Given the description of an element on the screen output the (x, y) to click on. 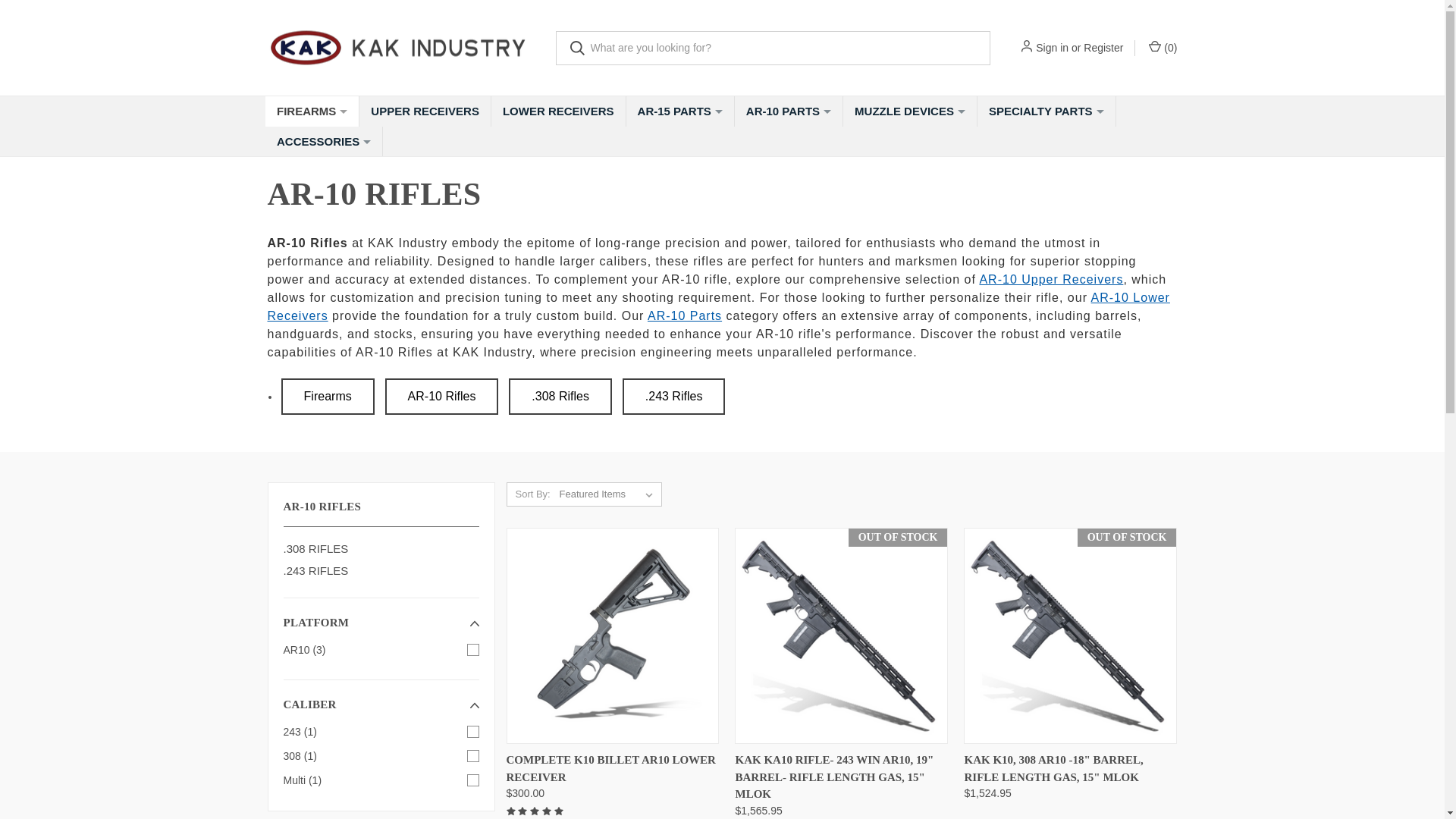
KAK INDUSTRY (399, 48)
Register (1102, 47)
Sign in (1051, 47)
